Given the description of an element on the screen output the (x, y) to click on. 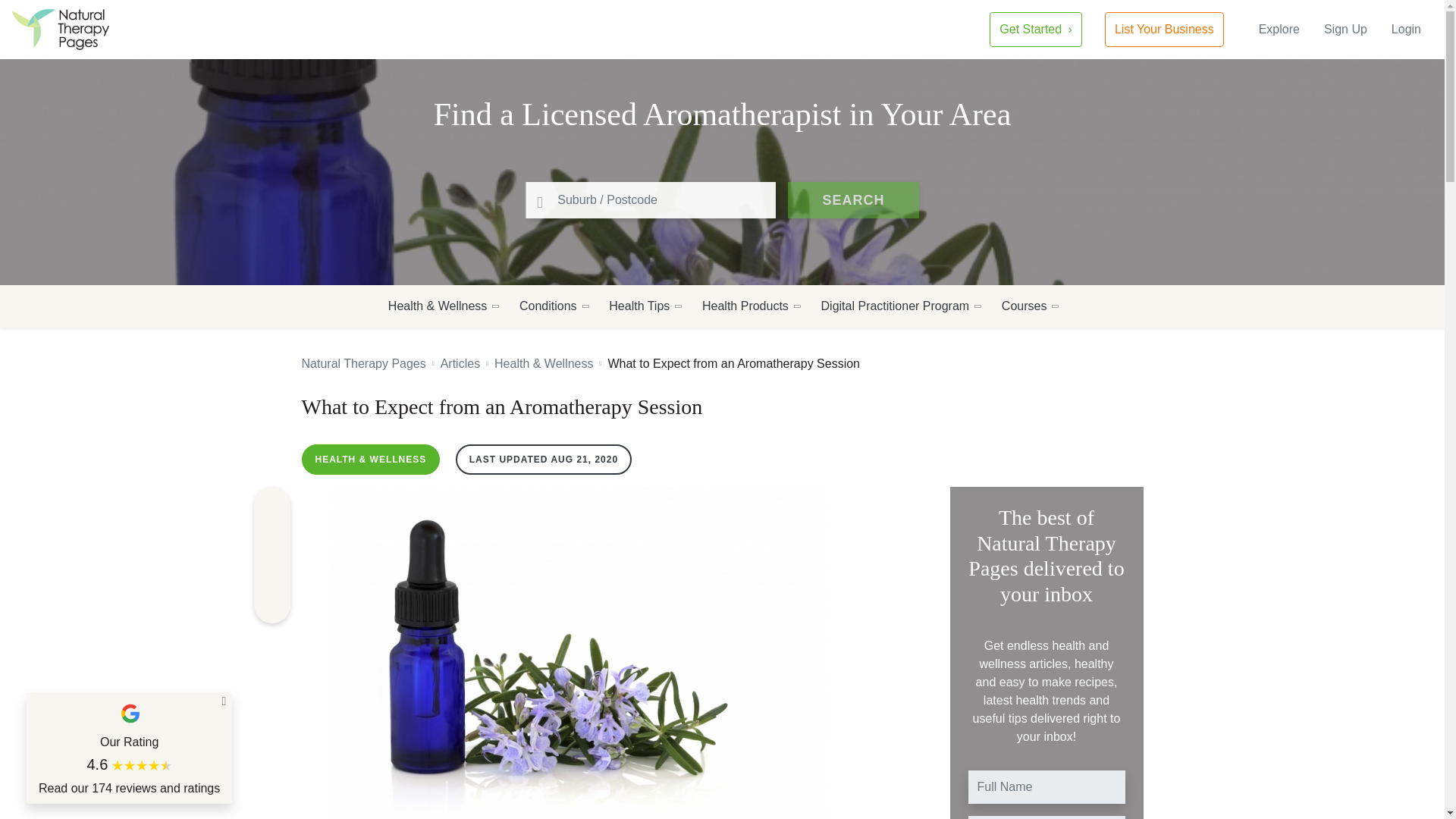
global.social.shareFacebook (271, 504)
global.social.shareEmail (271, 604)
Sign Up (1344, 29)
global.social.sharePinterest (271, 538)
Explore (1278, 29)
List Your Business (1164, 28)
global.social.shareTwitter (271, 571)
Login (1405, 29)
